Given the description of an element on the screen output the (x, y) to click on. 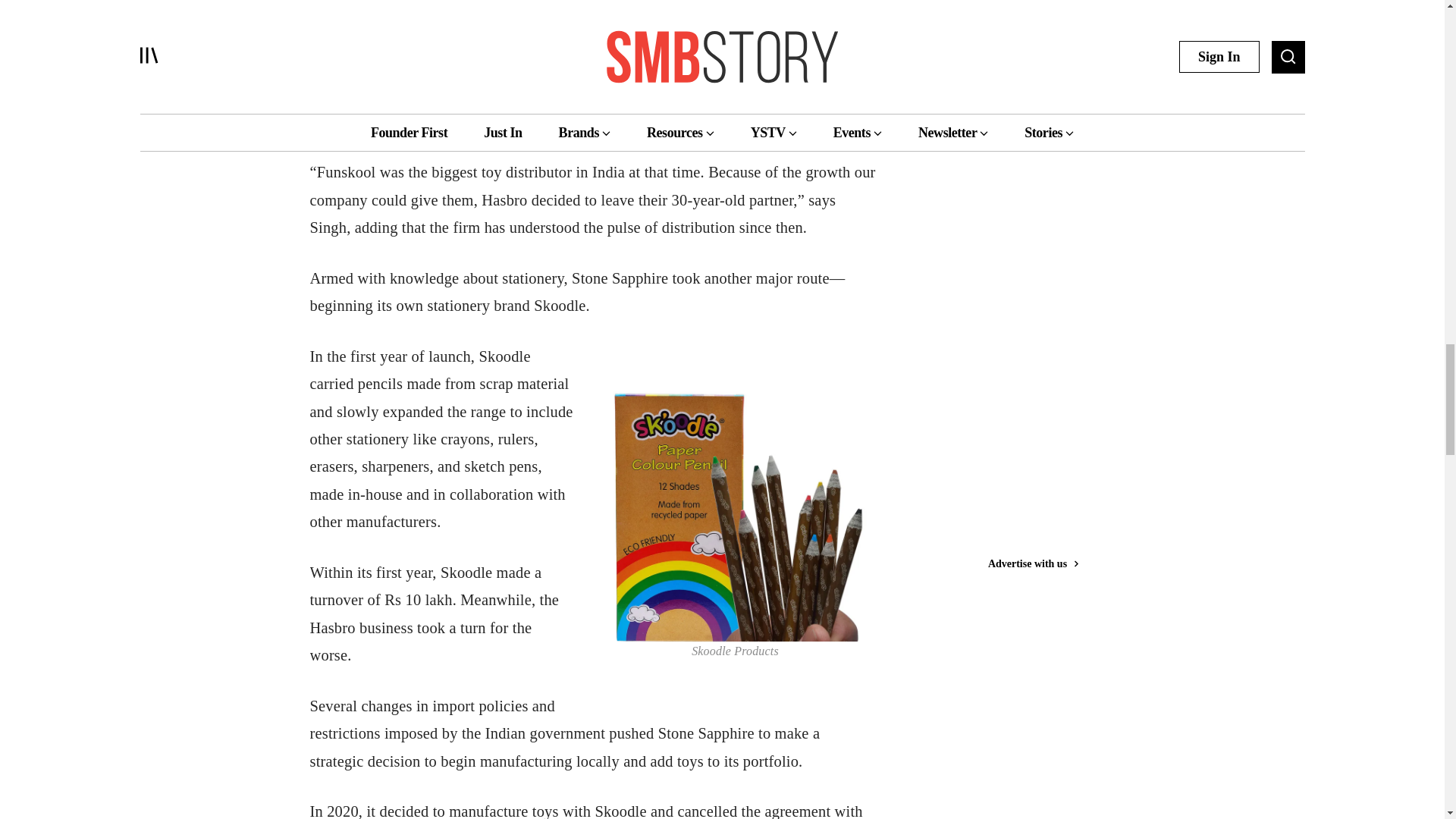
3rd party ad content (1043, 96)
